Given the description of an element on the screen output the (x, y) to click on. 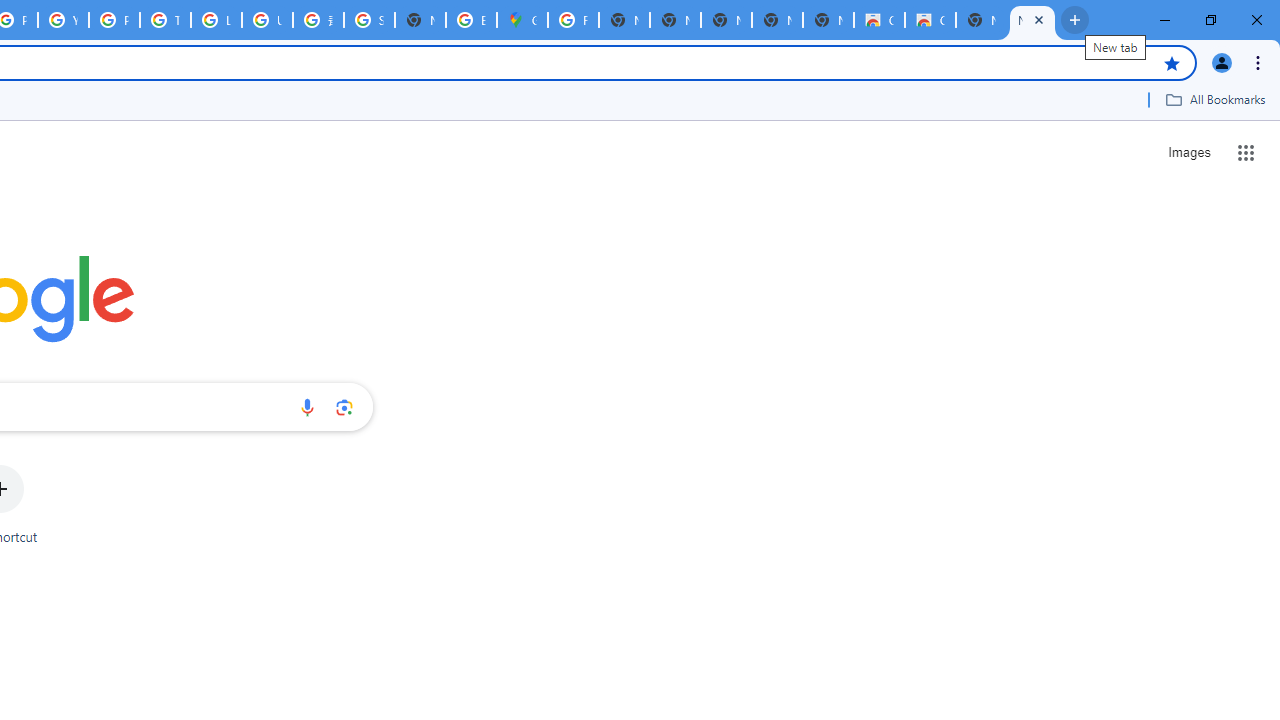
New Tab (420, 20)
Classic Blue - Chrome Web Store (930, 20)
YouTube (63, 20)
Sign in - Google Accounts (369, 20)
New Tab (827, 20)
